Given the description of an element on the screen output the (x, y) to click on. 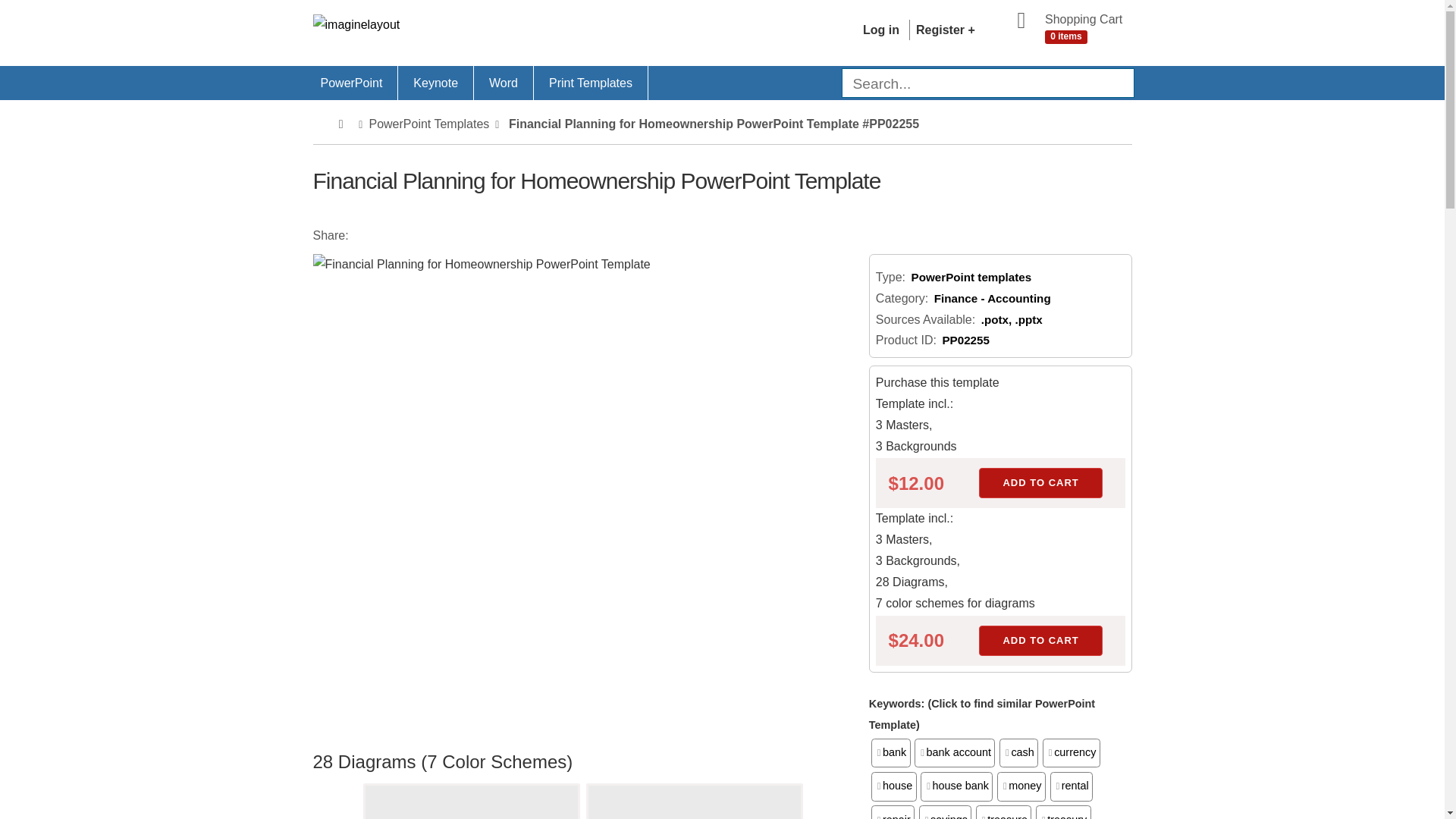
house bank - PowerPoint templates templates (956, 786)
currency - PowerPoint templates templates (1071, 752)
PowerPoint (350, 82)
savings - PowerPoint templates templates (944, 812)
savings (944, 812)
treasury - PowerPoint templates templates (1062, 812)
house (893, 786)
Keynote (435, 82)
Finance - Accounting (992, 297)
cash (1018, 752)
ADD TO CART (1040, 482)
currency (1071, 752)
money (1021, 786)
house - PowerPoint templates templates (893, 786)
ADD TO CART (1040, 640)
